Given the description of an element on the screen output the (x, y) to click on. 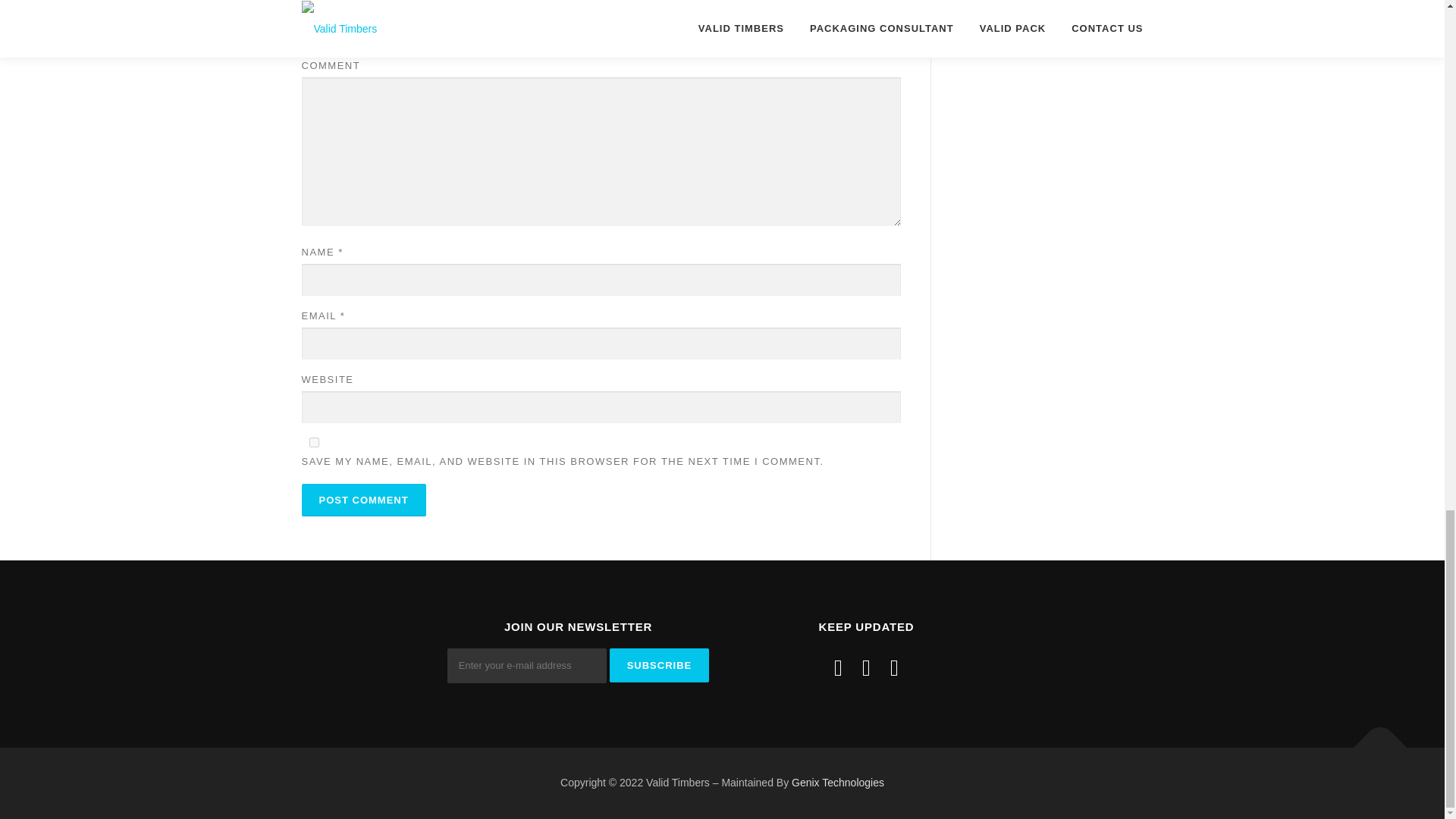
Back To Top (1372, 740)
Subscribe (660, 665)
Post Comment (363, 500)
Post Comment (363, 500)
yes (313, 442)
Subscribe (660, 665)
